Given the description of an element on the screen output the (x, y) to click on. 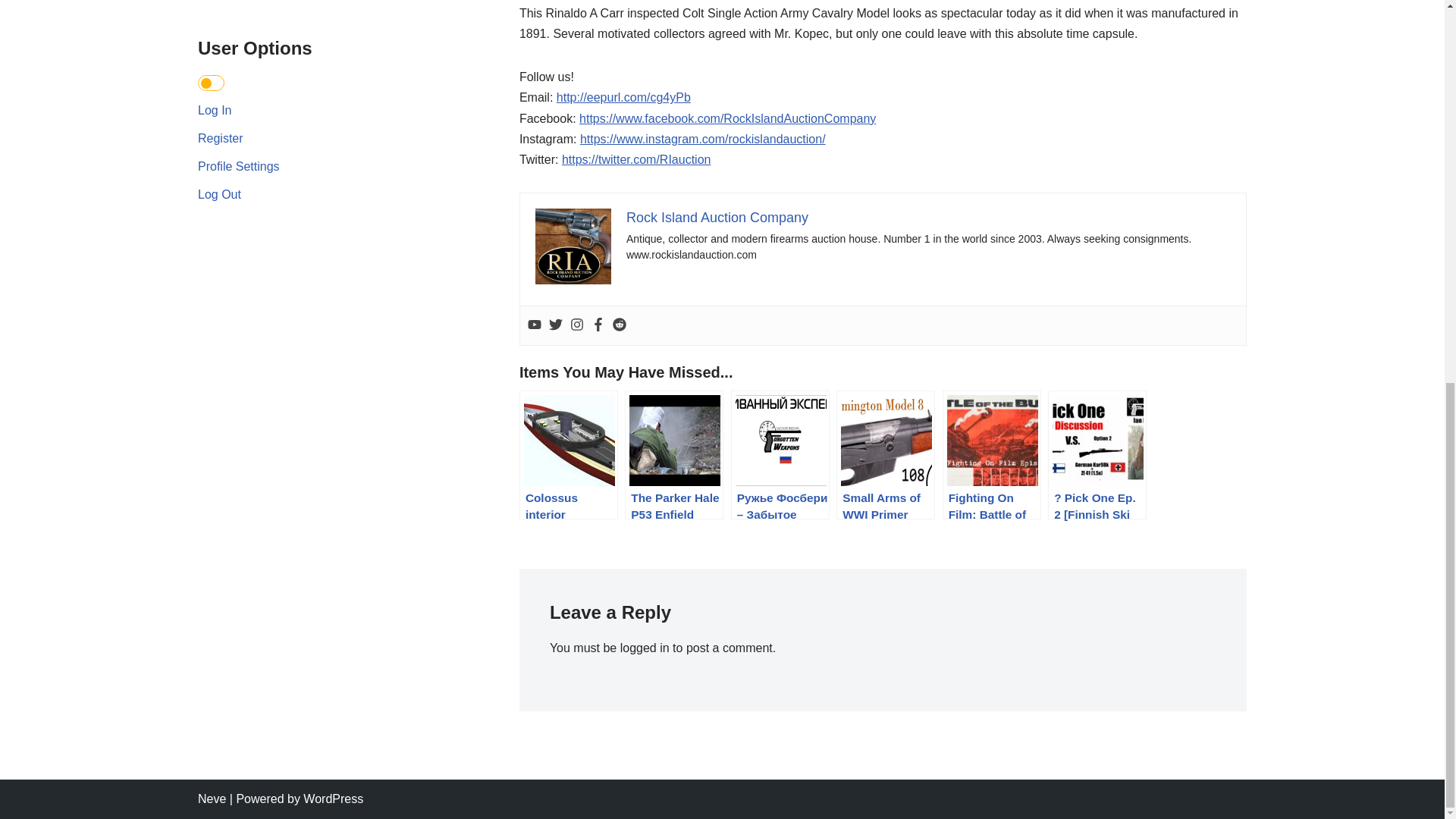
Profile Settings (238, 165)
Log Out (219, 194)
Log In (214, 110)
Register (220, 137)
